Given the description of an element on the screen output the (x, y) to click on. 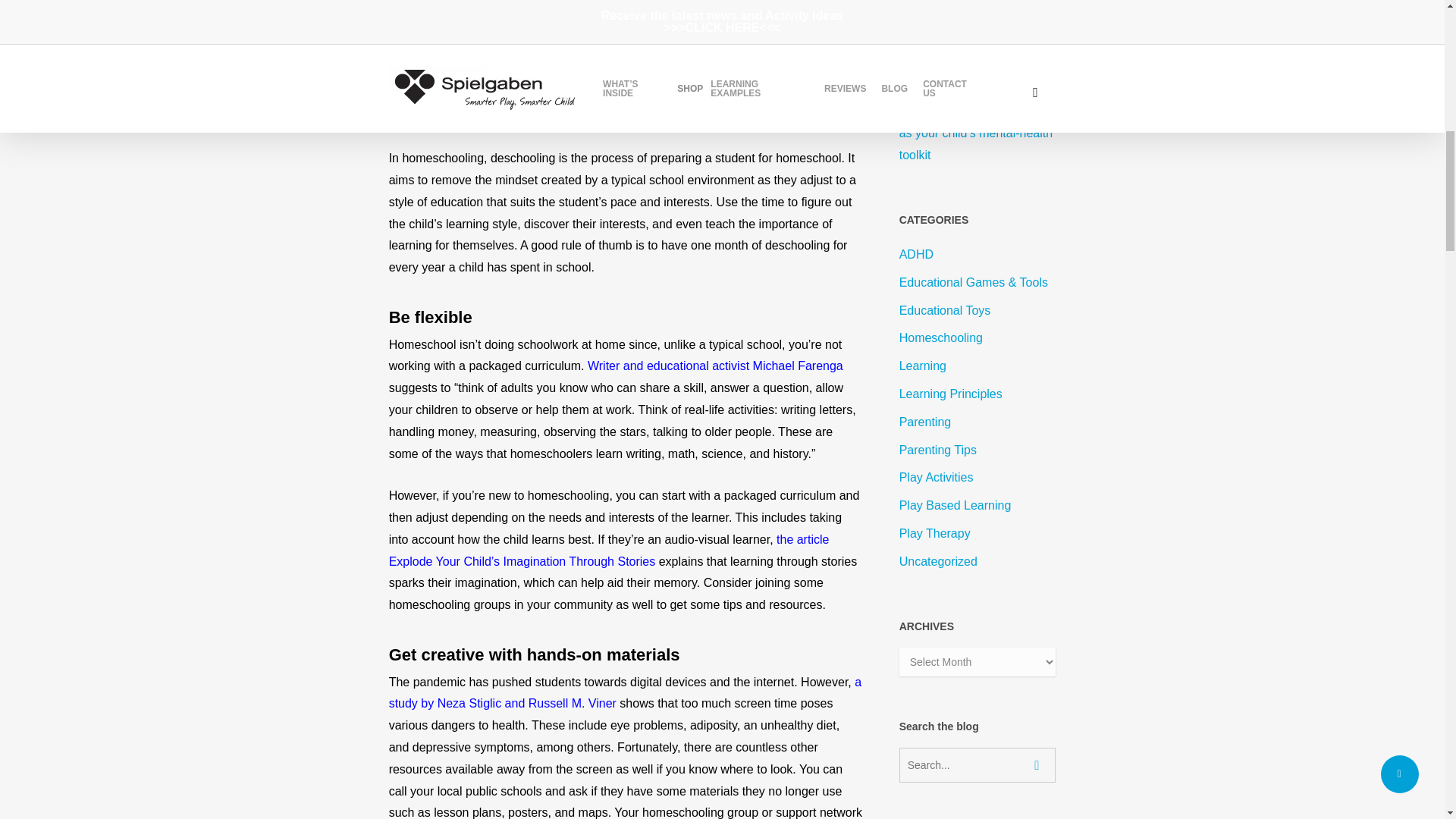
Educational Toys (978, 311)
Homeschooling (978, 338)
Search for: (978, 764)
Writer and educational activist Michael Farenga (715, 365)
ADHD (978, 255)
a study by Neza Stiglic and Russell M. Viner (624, 692)
